Given the description of an element on the screen output the (x, y) to click on. 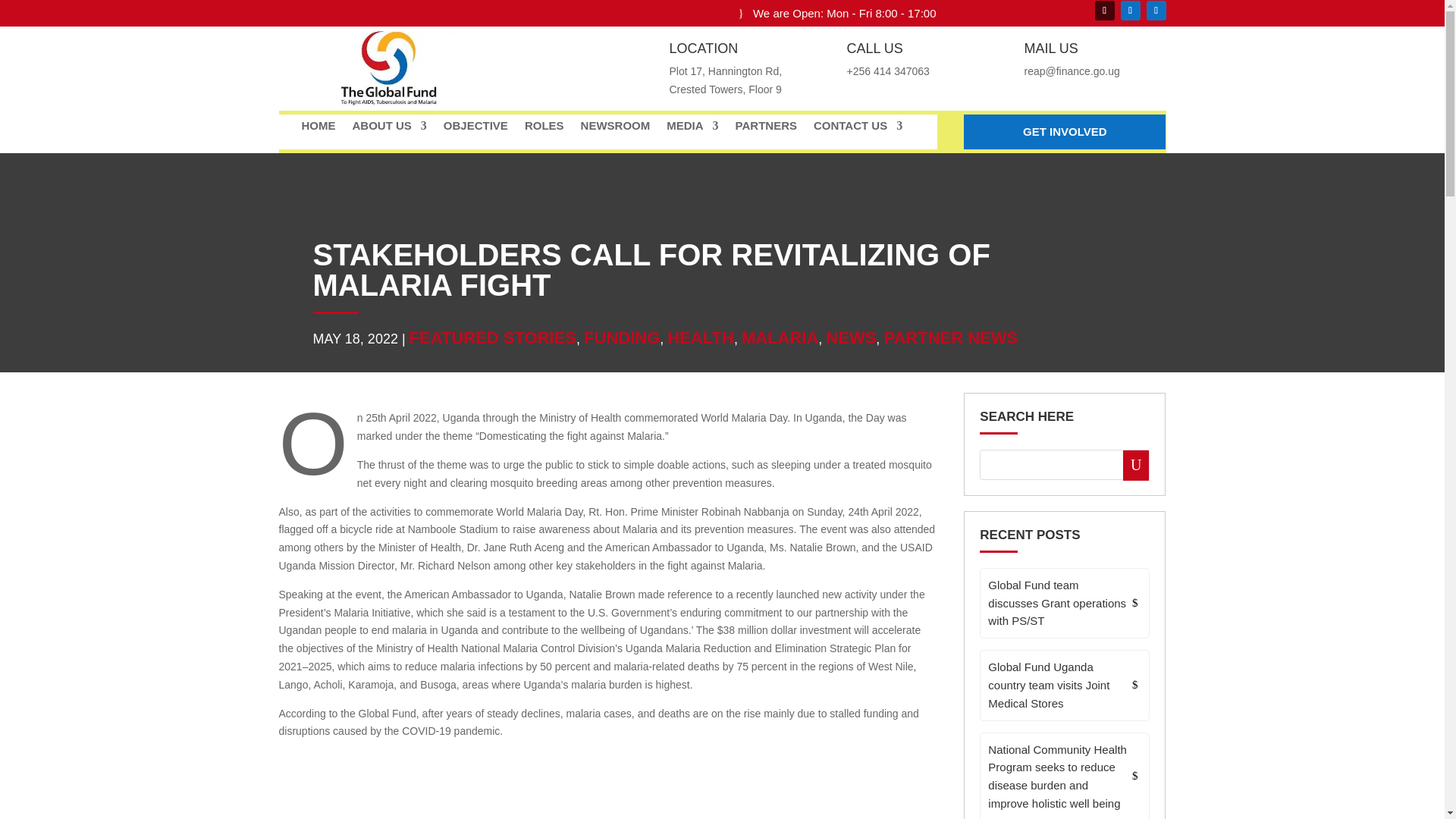
ABOUT US (389, 128)
Follow on X (1130, 10)
MEDIA (691, 128)
ROLES (544, 128)
NEWSROOM (615, 128)
OBJECTIVE (476, 128)
HOME (318, 128)
Search (1129, 464)
Globalfund (386, 66)
PARTNERS (765, 128)
